Given the description of an element on the screen output the (x, y) to click on. 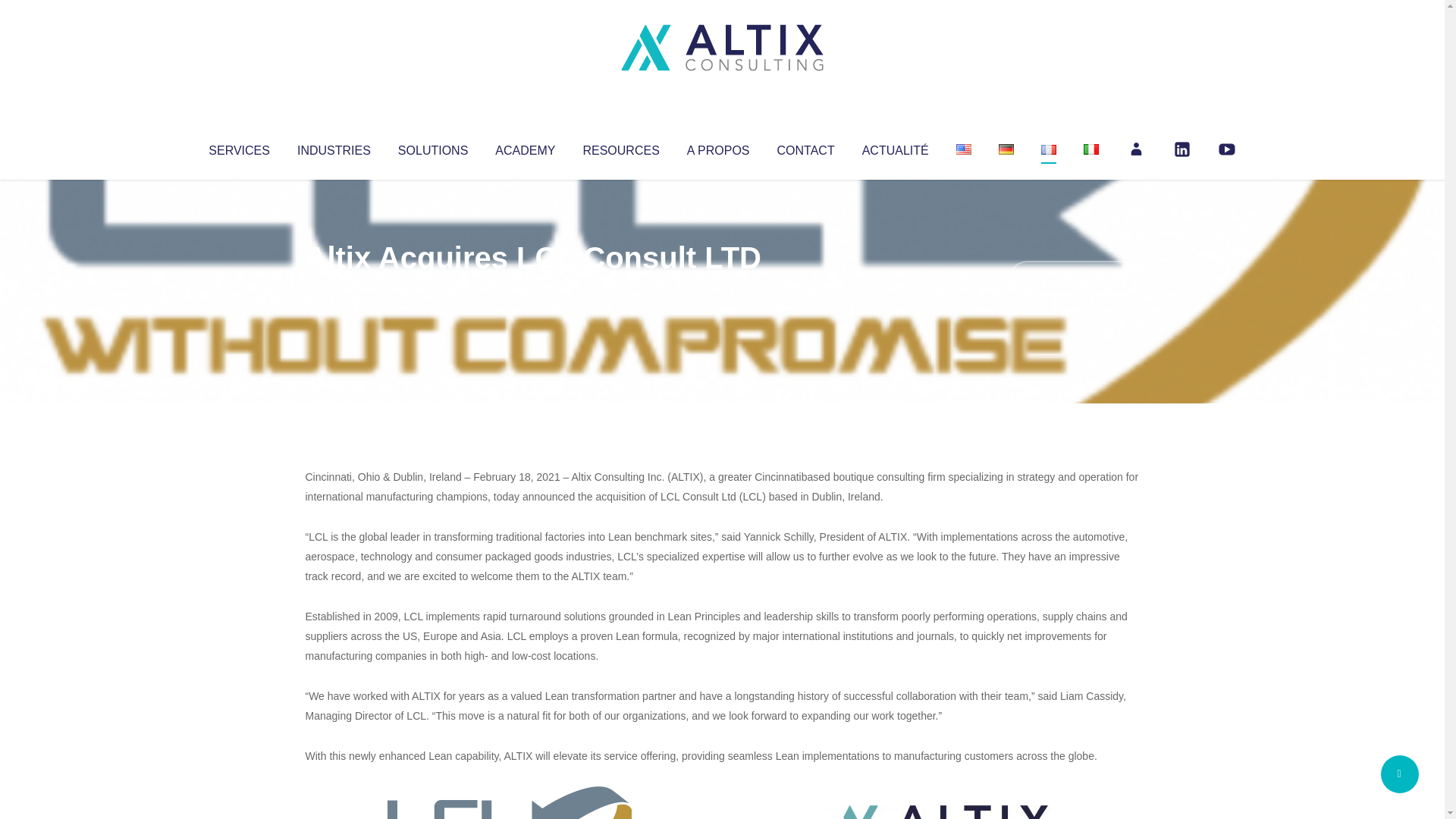
No Comments (1073, 278)
INDUSTRIES (334, 146)
SERVICES (238, 146)
A PROPOS (718, 146)
Uncategorized (530, 287)
ACADEMY (524, 146)
Articles par Altix (333, 287)
Altix (333, 287)
RESOURCES (620, 146)
SOLUTIONS (432, 146)
